Given the description of an element on the screen output the (x, y) to click on. 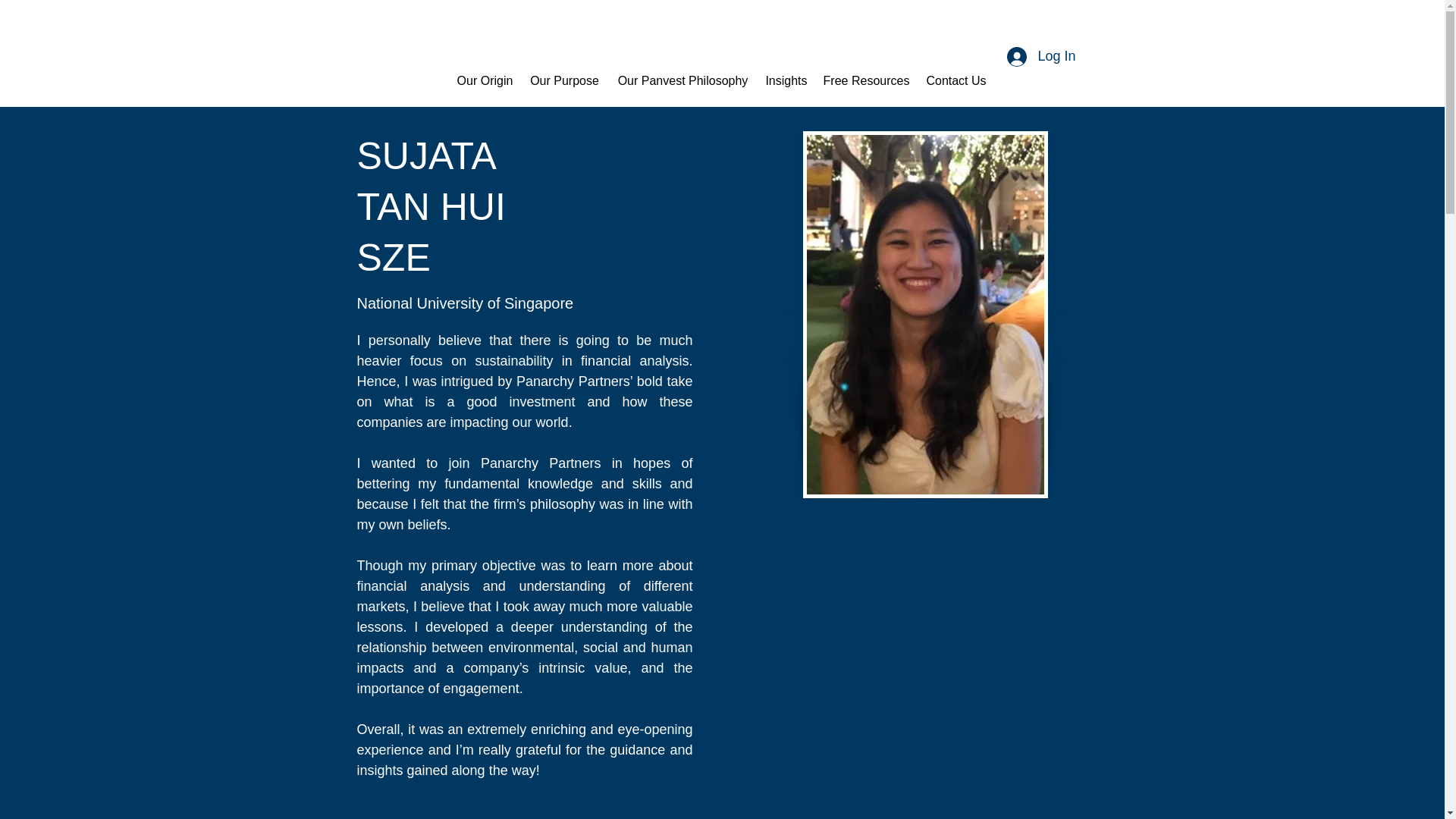
Our Purpose (564, 80)
Our Origin (484, 80)
Insights (786, 80)
Free Resources (866, 80)
Our Panvest Philosophy (682, 80)
Log In (1040, 56)
Contact Us (955, 80)
